Given the description of an element on the screen output the (x, y) to click on. 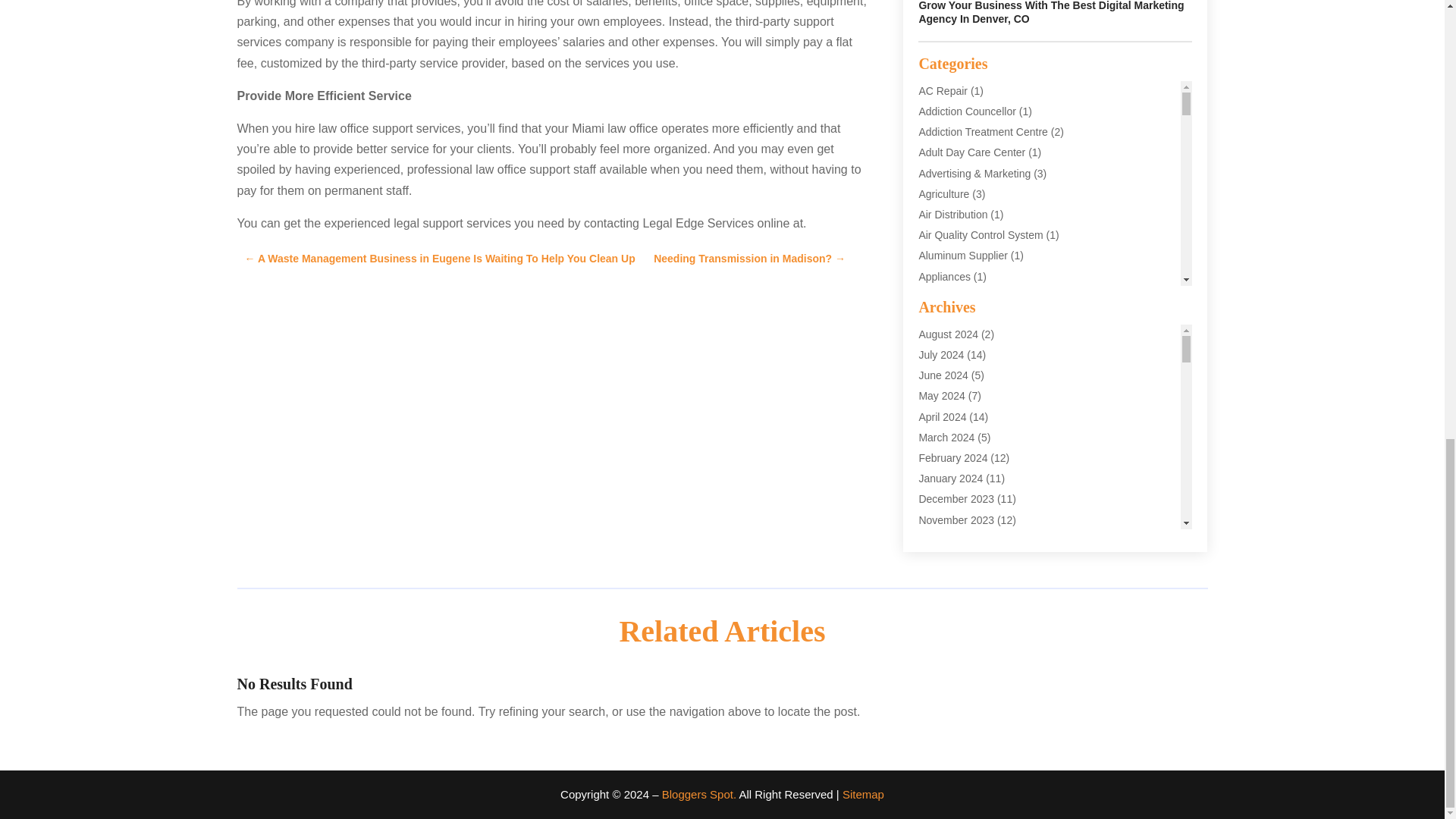
Addiction Treatment Centre (982, 132)
Air Quality Control System (980, 234)
Aluminum Supplier (962, 255)
Addiction Councellor (966, 111)
Air Distribution (952, 214)
AC Repair (943, 91)
Agriculture (943, 193)
Audio Installation (958, 378)
Assisted Living (953, 358)
Audiologist (944, 399)
Adult Day Care Center (971, 152)
Appliances (944, 276)
Asphalt Contractor (962, 337)
Automotive (944, 420)
